Given the description of an element on the screen output the (x, y) to click on. 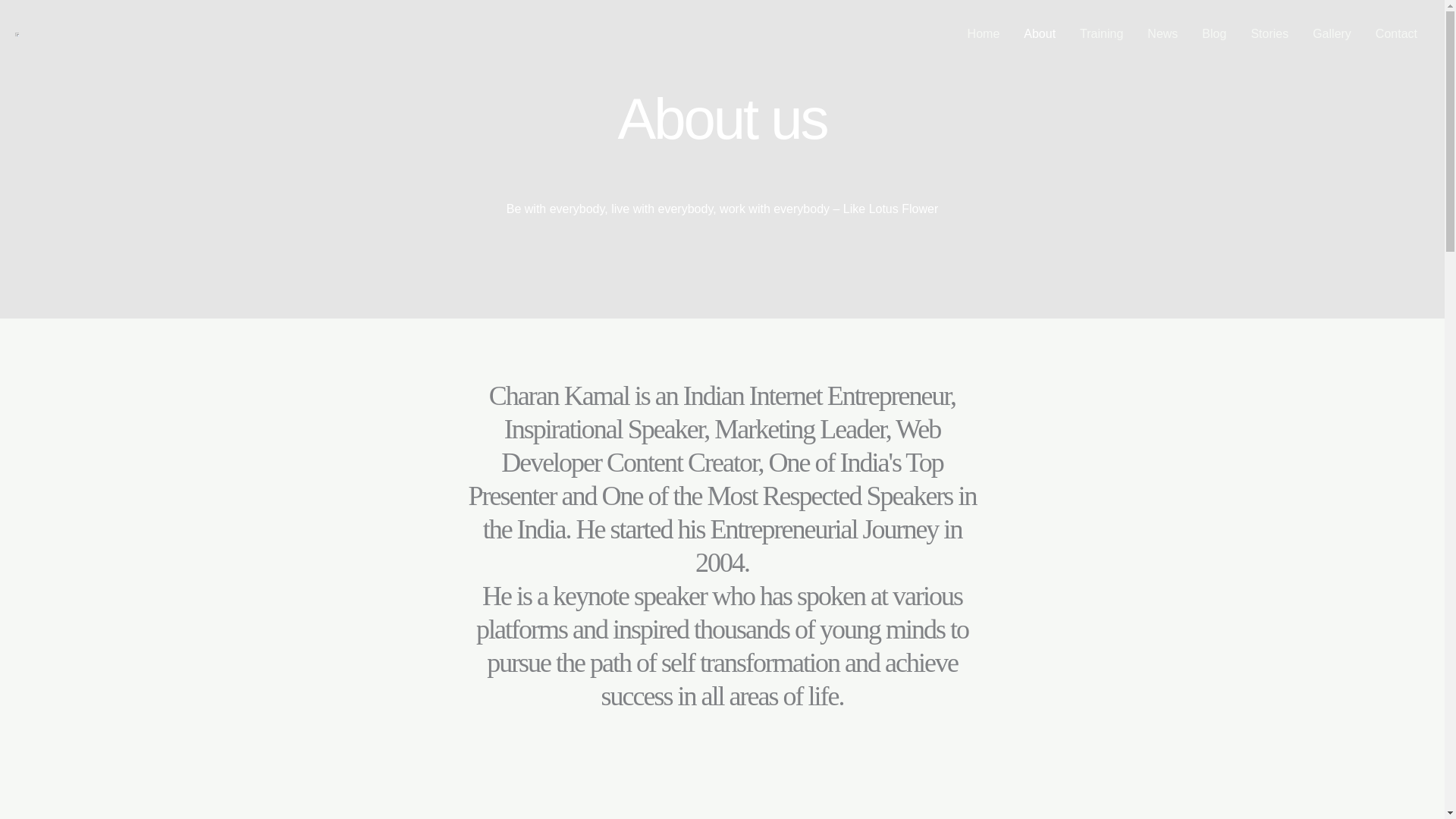
Home (983, 33)
Training (1101, 33)
Stories (1269, 33)
Gallery (1331, 33)
News (1162, 33)
Blog (1214, 33)
About (1039, 33)
Contact (1395, 33)
